Given the description of an element on the screen output the (x, y) to click on. 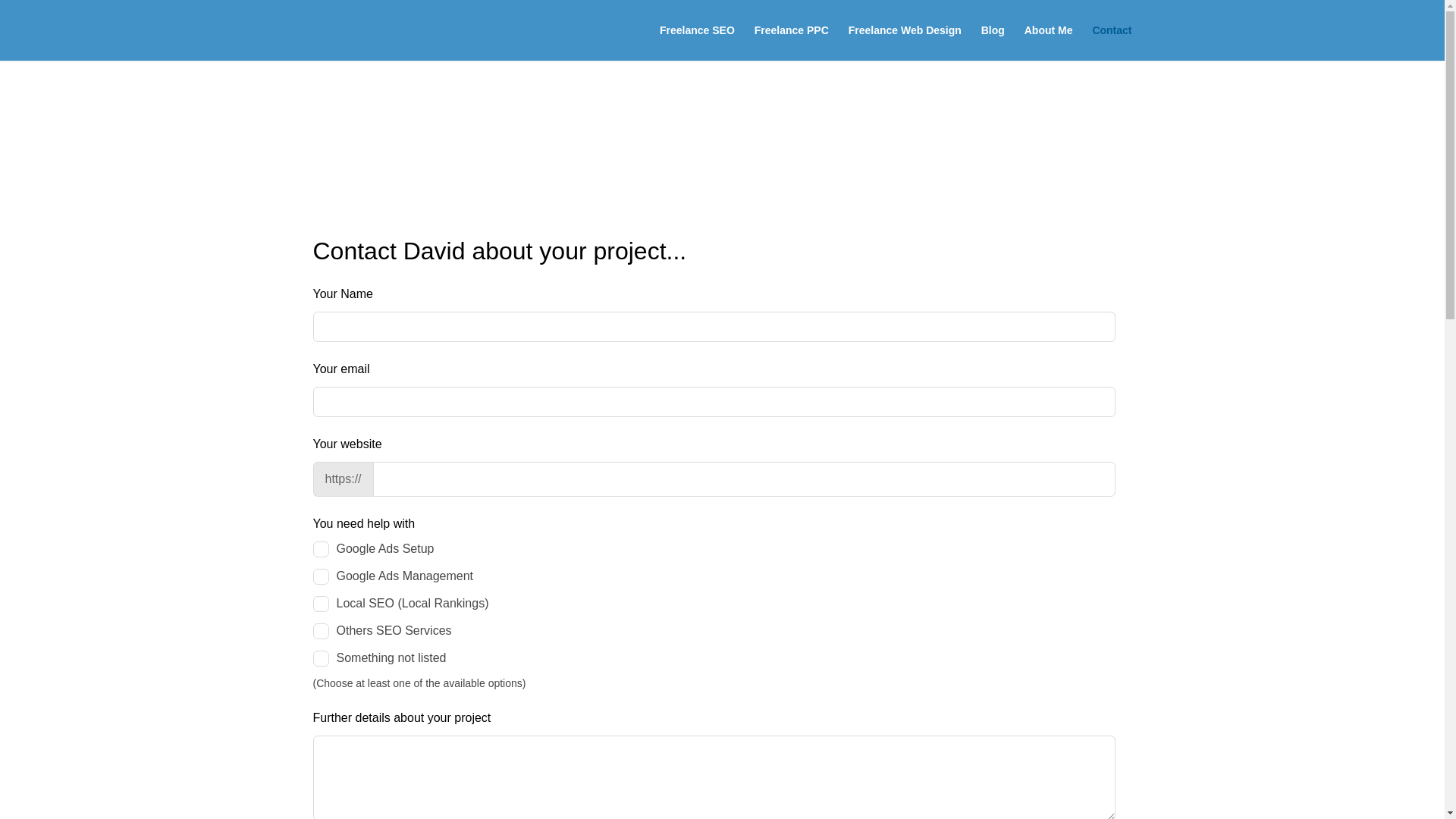
Freelance Web Design (904, 42)
Freelance SEO (697, 42)
Freelance PPC (791, 42)
Contact (1111, 42)
About Me (1049, 42)
